Given the description of an element on the screen output the (x, y) to click on. 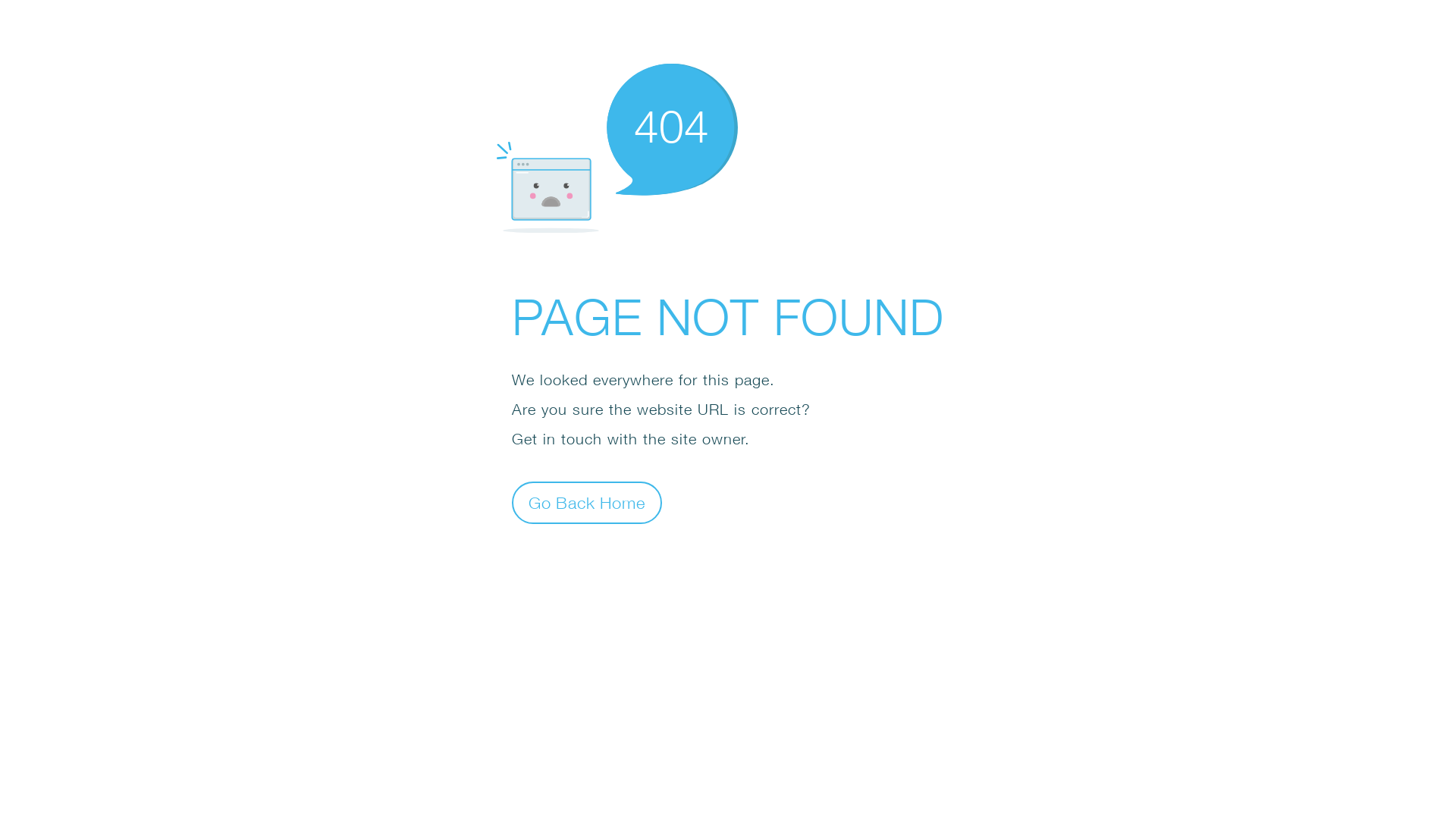
Go Back Home Element type: text (586, 502)
